Given the description of an element on the screen output the (x, y) to click on. 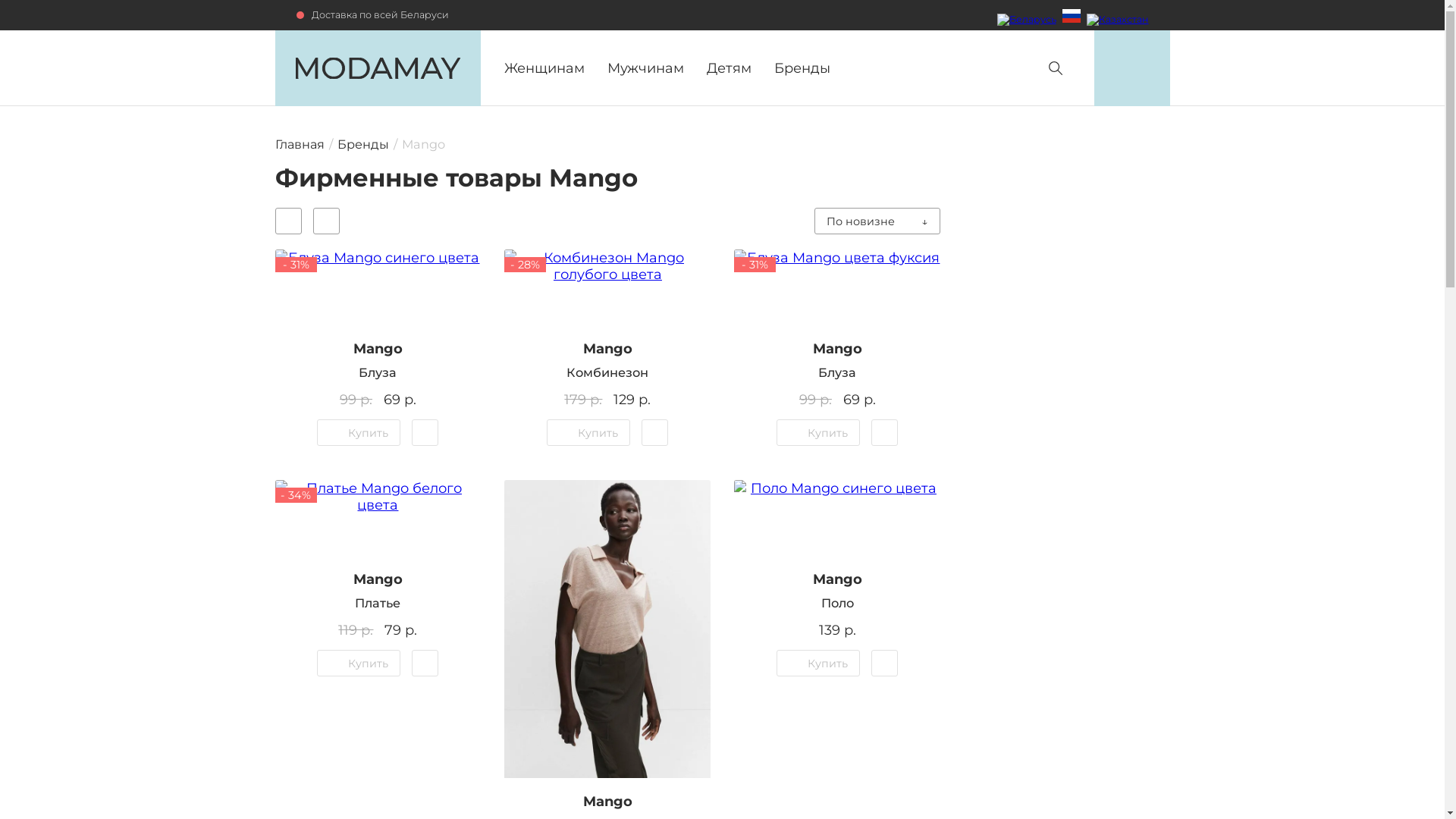
Mango Element type: text (607, 801)
Mango Element type: text (837, 579)
Mango Element type: text (377, 579)
Mango Element type: text (837, 348)
Mango Element type: text (377, 348)
Mango Element type: text (607, 348)
